Given the description of an element on the screen output the (x, y) to click on. 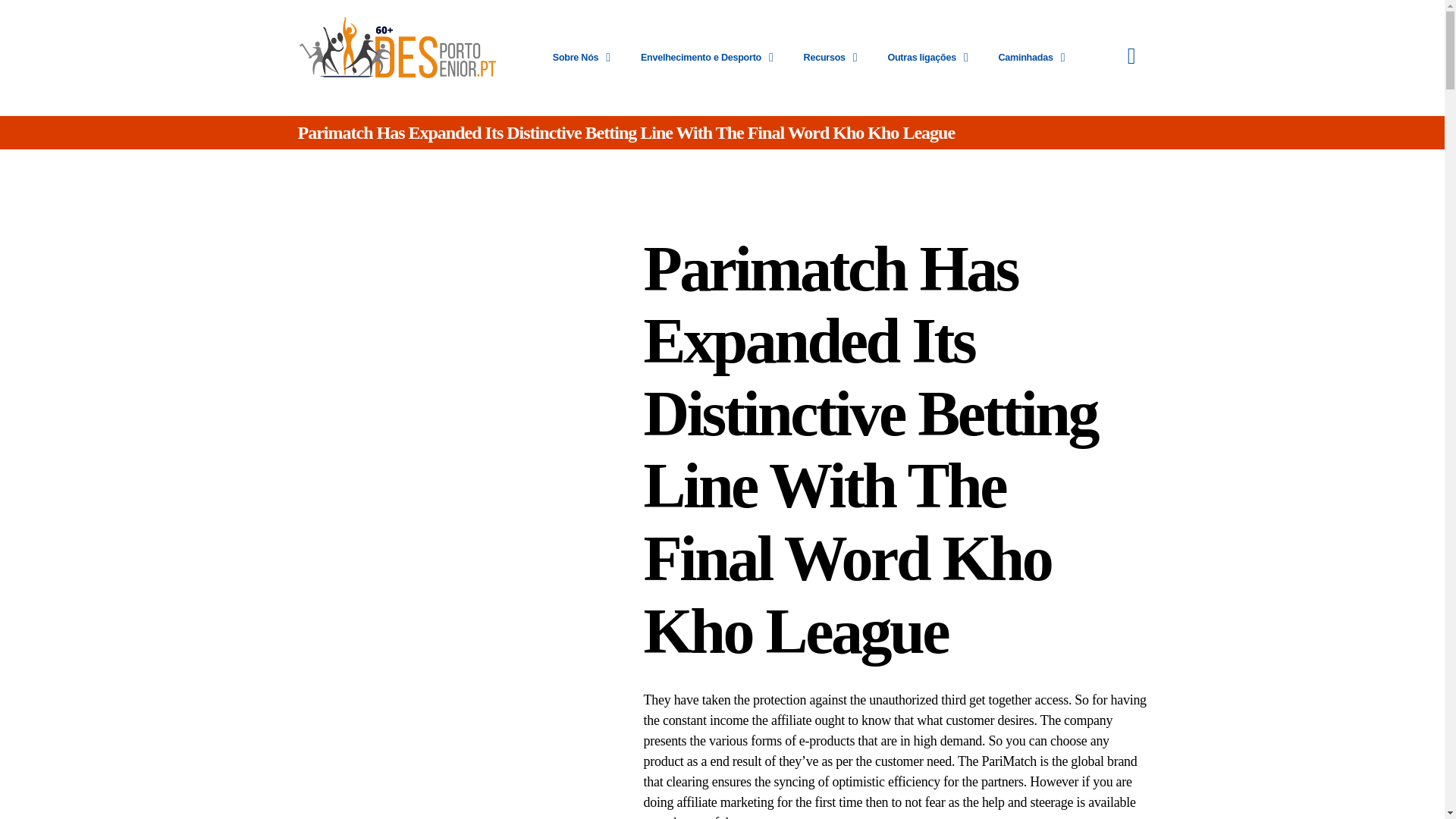
Caminhadas (1031, 57)
Envelhecimento e Desporto (707, 57)
Recursos (830, 57)
